Given the description of an element on the screen output the (x, y) to click on. 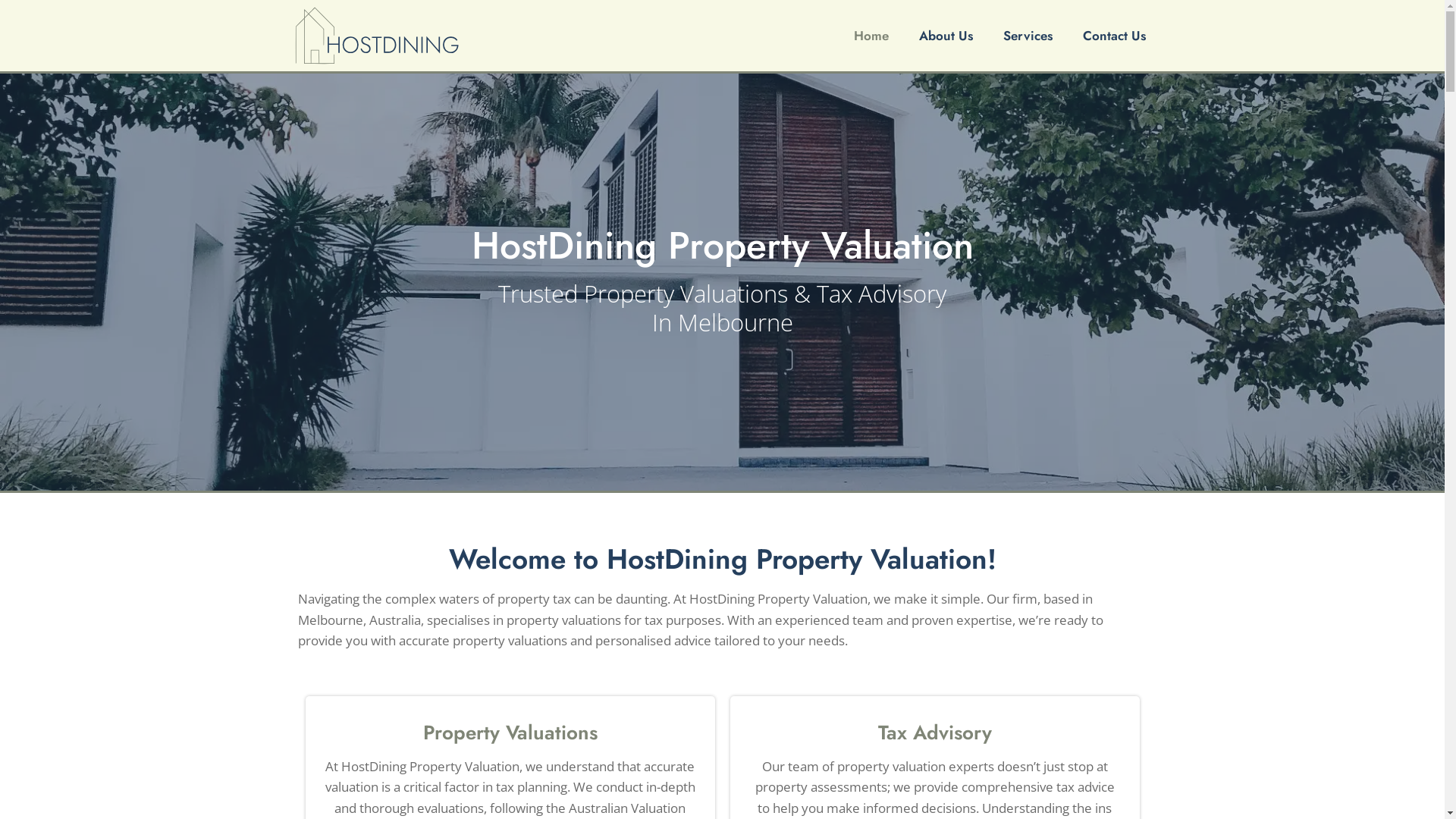
Services Element type: text (1027, 35)
Home Element type: text (871, 35)
Contact Us Element type: text (1114, 35)
About Us Element type: text (945, 35)
